Given the description of an element on the screen output the (x, y) to click on. 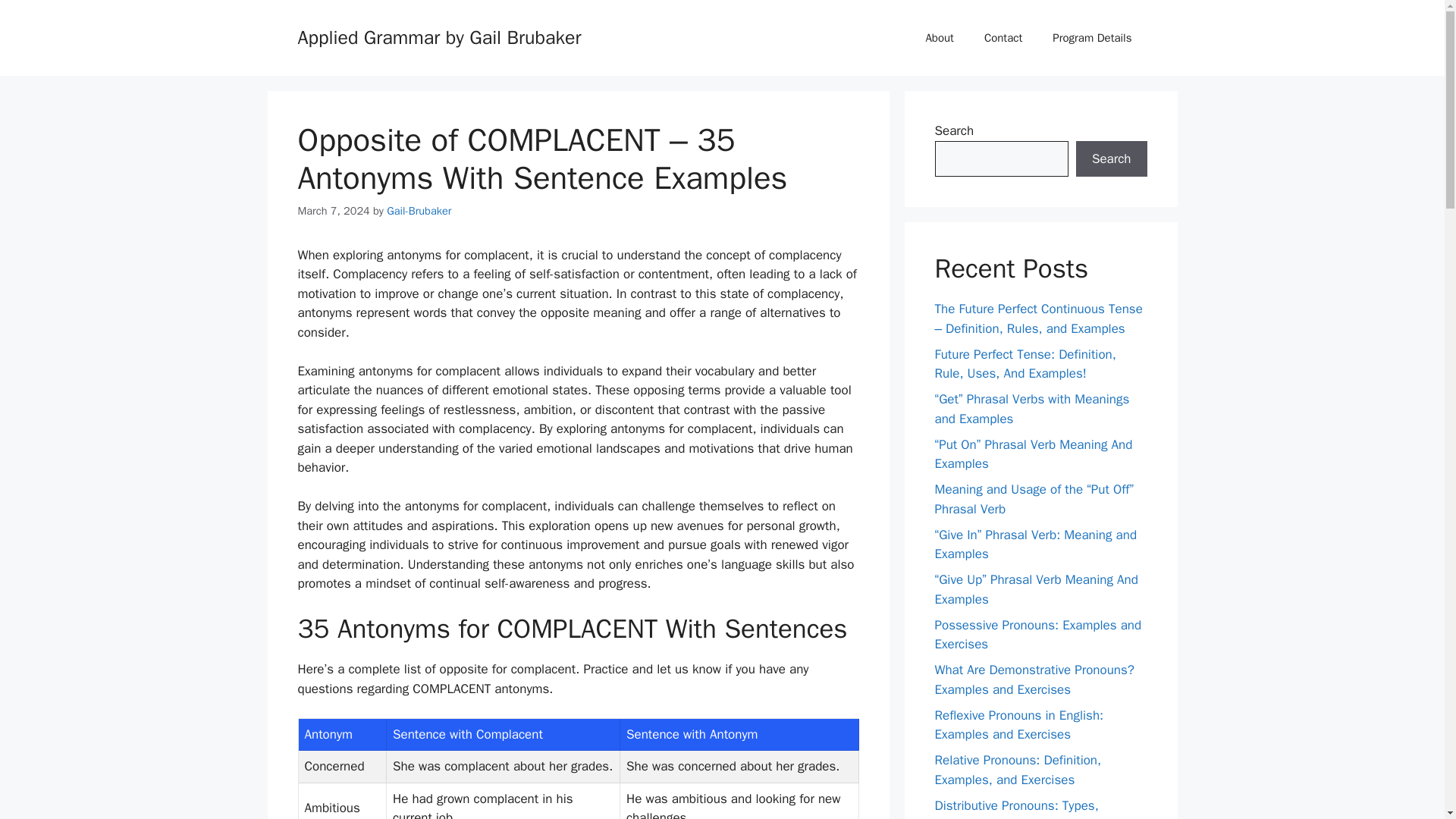
Possessive Pronouns: Examples and Exercises (1037, 634)
What Are Demonstrative Pronouns? Examples and Exercises (1034, 679)
Future Perfect Tense: Definition, Rule, Uses, And Examples! (1024, 363)
Reflexive Pronouns in English: Examples and Exercises (1018, 724)
Contact (1002, 37)
Program Details (1091, 37)
Gail-Brubaker (419, 210)
Distributive Pronouns: Types, Examples, and Usage (1015, 808)
Relative Pronouns: Definition, Examples, and Exercises (1017, 769)
Applied Grammar by Gail Brubaker (438, 37)
About (939, 37)
View all posts by Gail-Brubaker (419, 210)
Search (1111, 158)
